Given the description of an element on the screen output the (x, y) to click on. 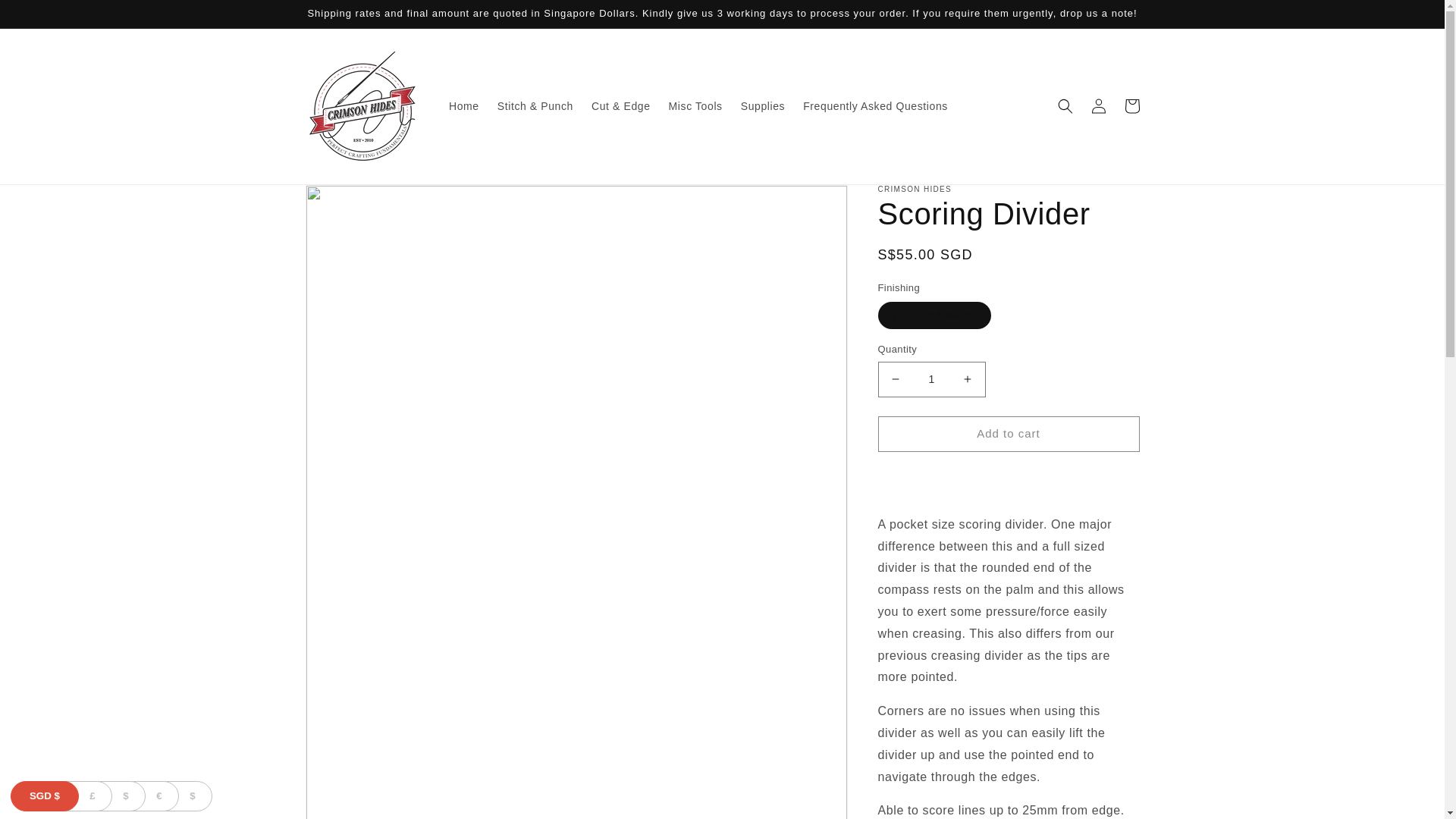
Misc Tools (695, 106)
Skip to content (45, 17)
Frequently Asked Questions (874, 106)
1 (931, 379)
Log in (1098, 105)
Increase quantity for Scoring Divider (967, 379)
Skip to product information (350, 202)
Add to cart (1008, 434)
Cart (1131, 105)
